Given the description of an element on the screen output the (x, y) to click on. 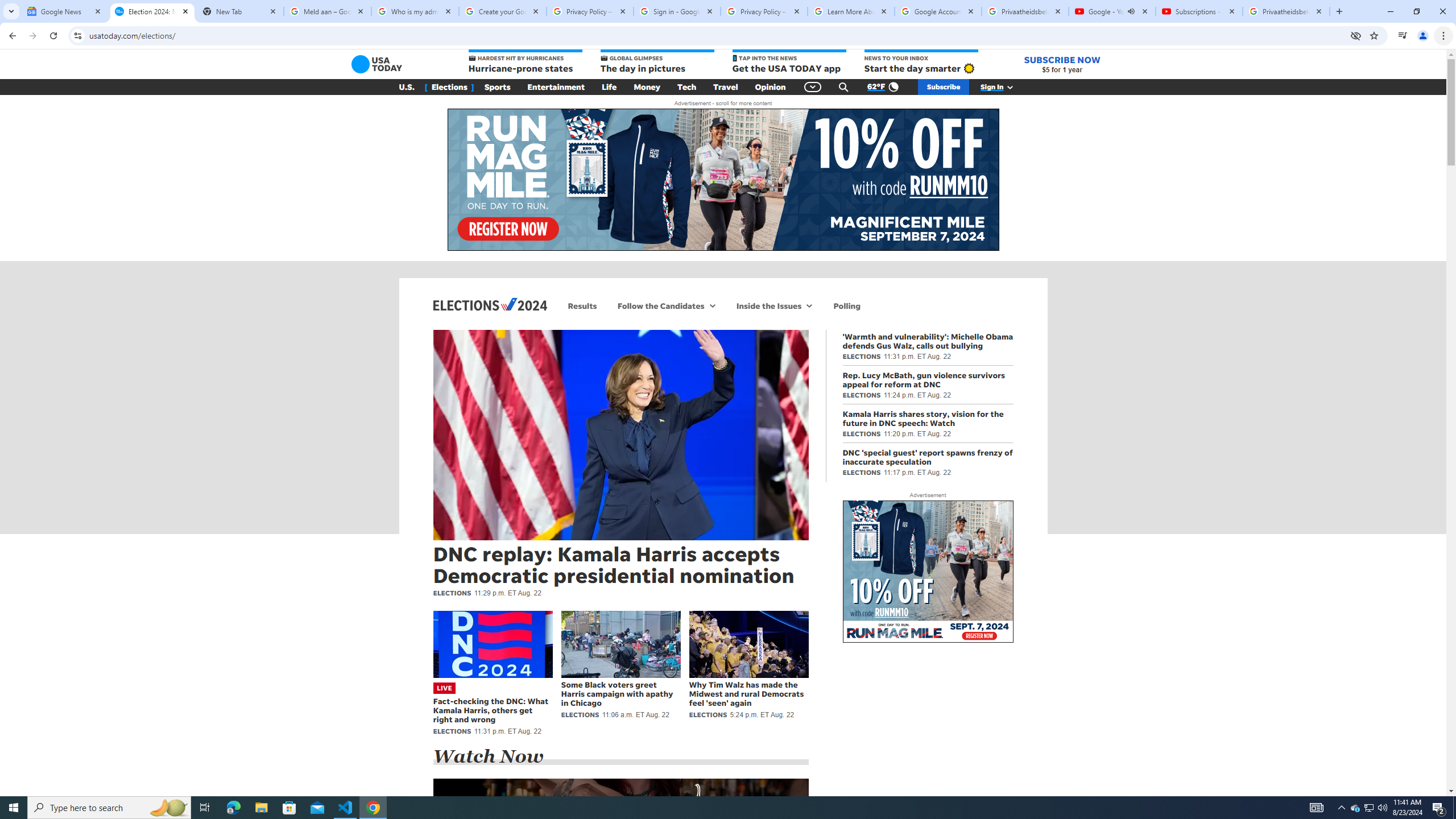
Subscribe (943, 87)
Inside the Issues (767, 305)
Google Account (938, 11)
Elections 2024 (489, 303)
Tech (686, 87)
[ Elections ] (449, 87)
